Given the description of an element on the screen output the (x, y) to click on. 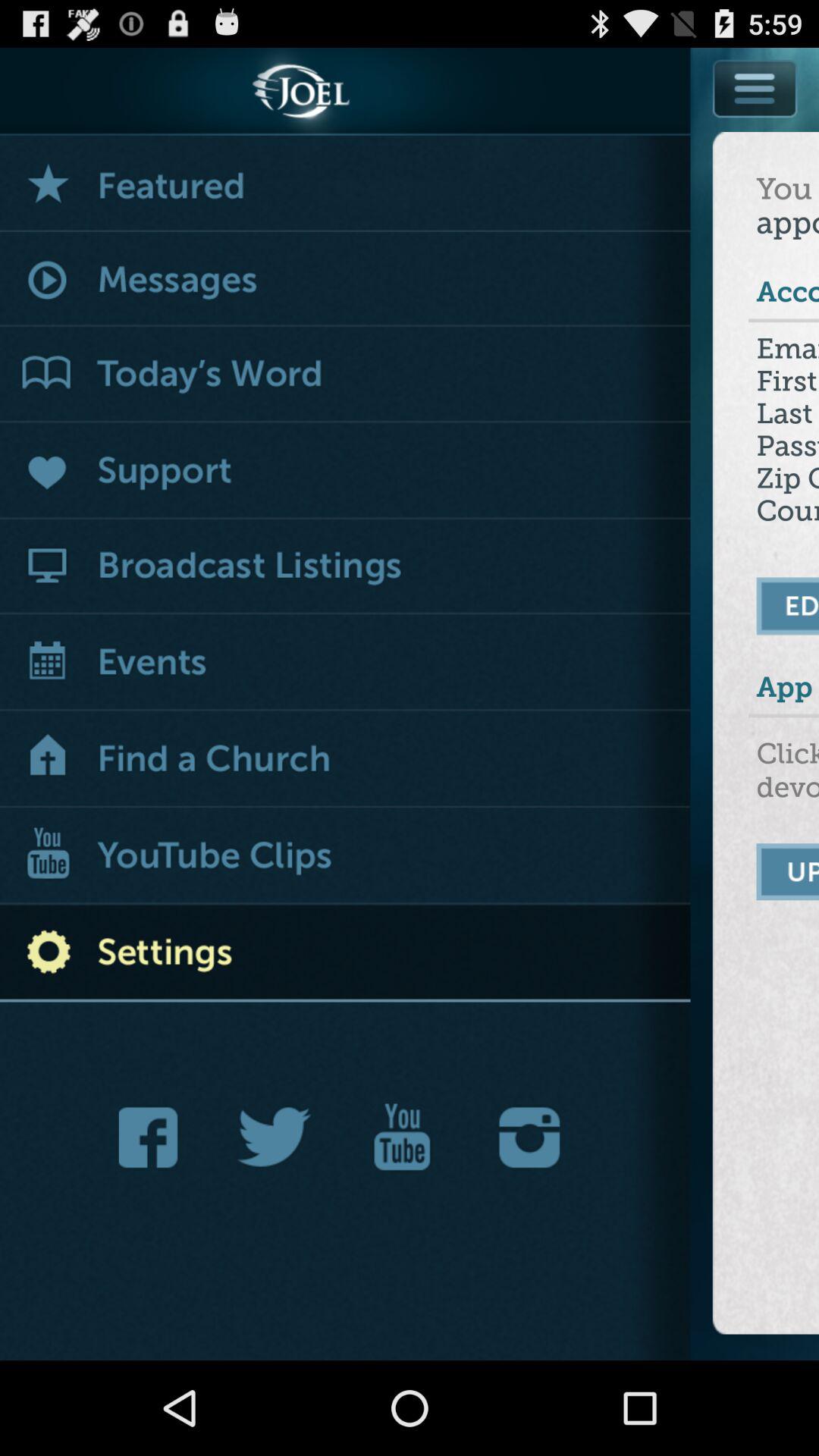
displays activities scheduled (345, 663)
